Given the description of an element on the screen output the (x, y) to click on. 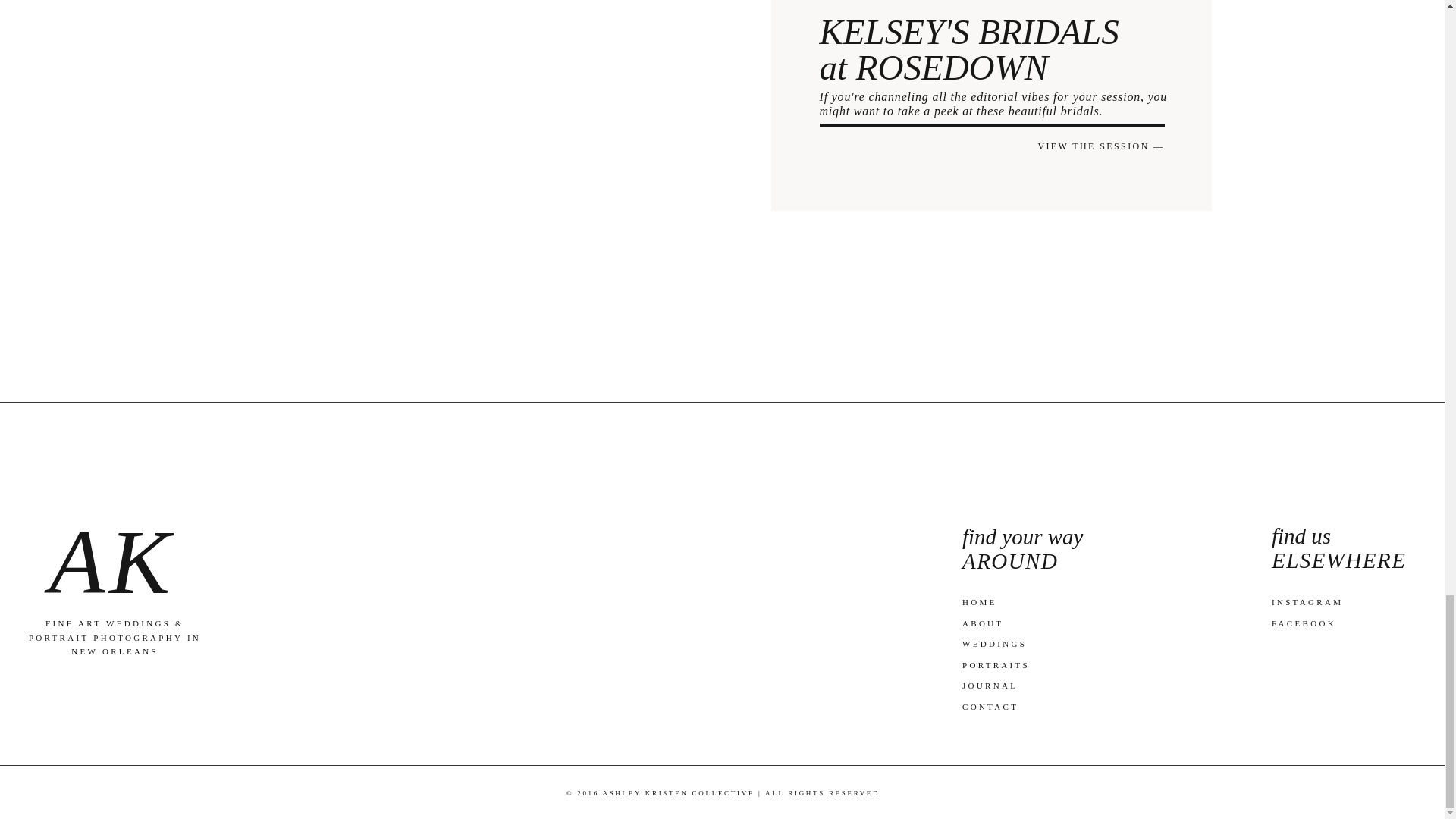
CONTACT (995, 706)
ABOUT (1000, 623)
PORTRAITS (994, 664)
FACEBOOK (1304, 623)
INSTAGRAM (1312, 602)
HOME (982, 602)
WEDDINGS (994, 644)
JOURNAL (990, 685)
